Given the description of an element on the screen output the (x, y) to click on. 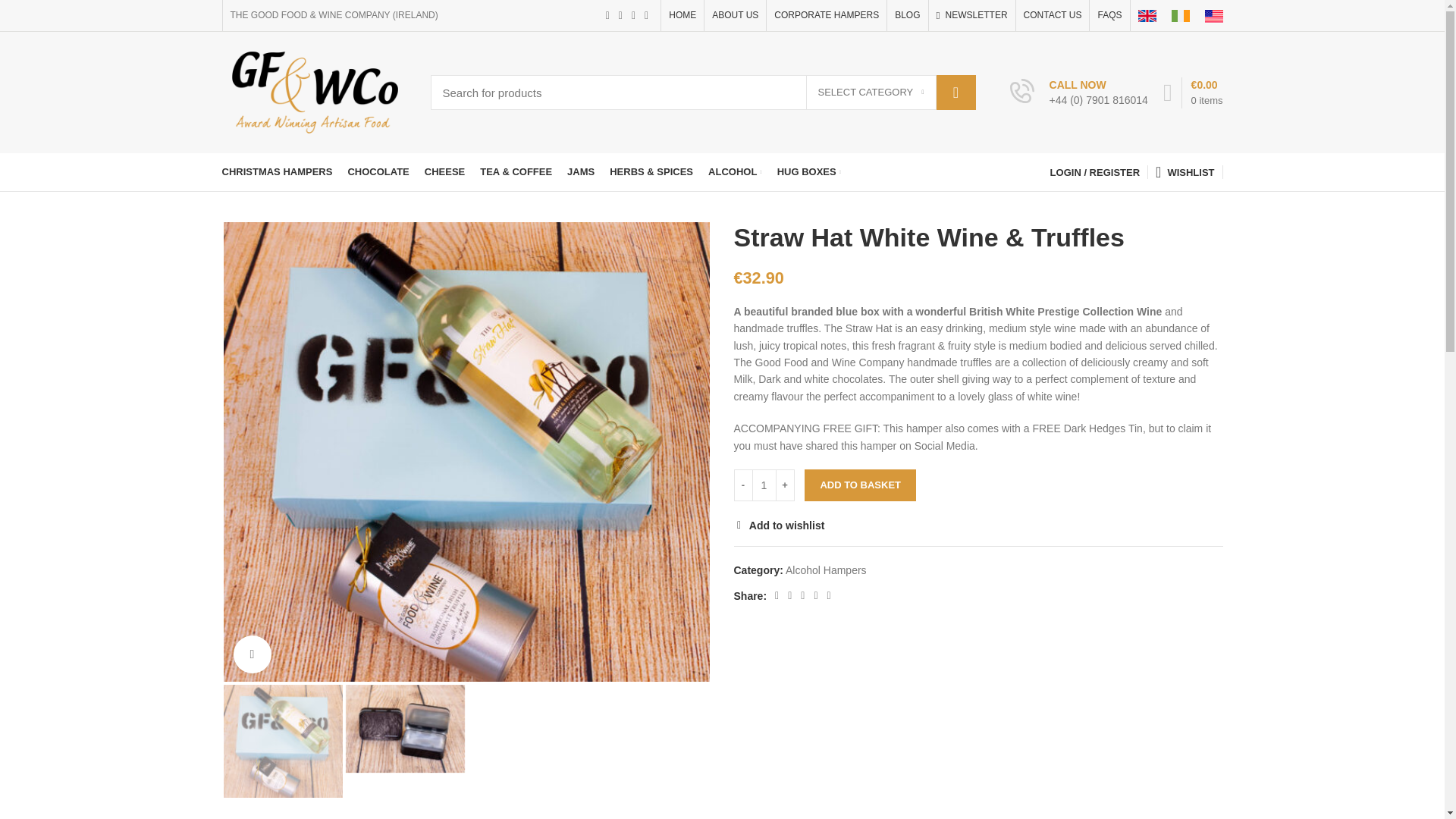
HOME (682, 15)
SELECT CATEGORY (871, 92)
Search for products (702, 92)
SELECT CATEGORY (871, 92)
Shopping cart (1193, 92)
CONTACT US (1052, 15)
My account (1094, 172)
My Wishlist (1184, 172)
ABOUT US (734, 15)
IE (1179, 15)
FAQS (1109, 15)
Ireland and Europe Website (1179, 15)
CORPORATE HAMPERS (826, 15)
UK (1146, 15)
BLOG (906, 15)
